Given the description of an element on the screen output the (x, y) to click on. 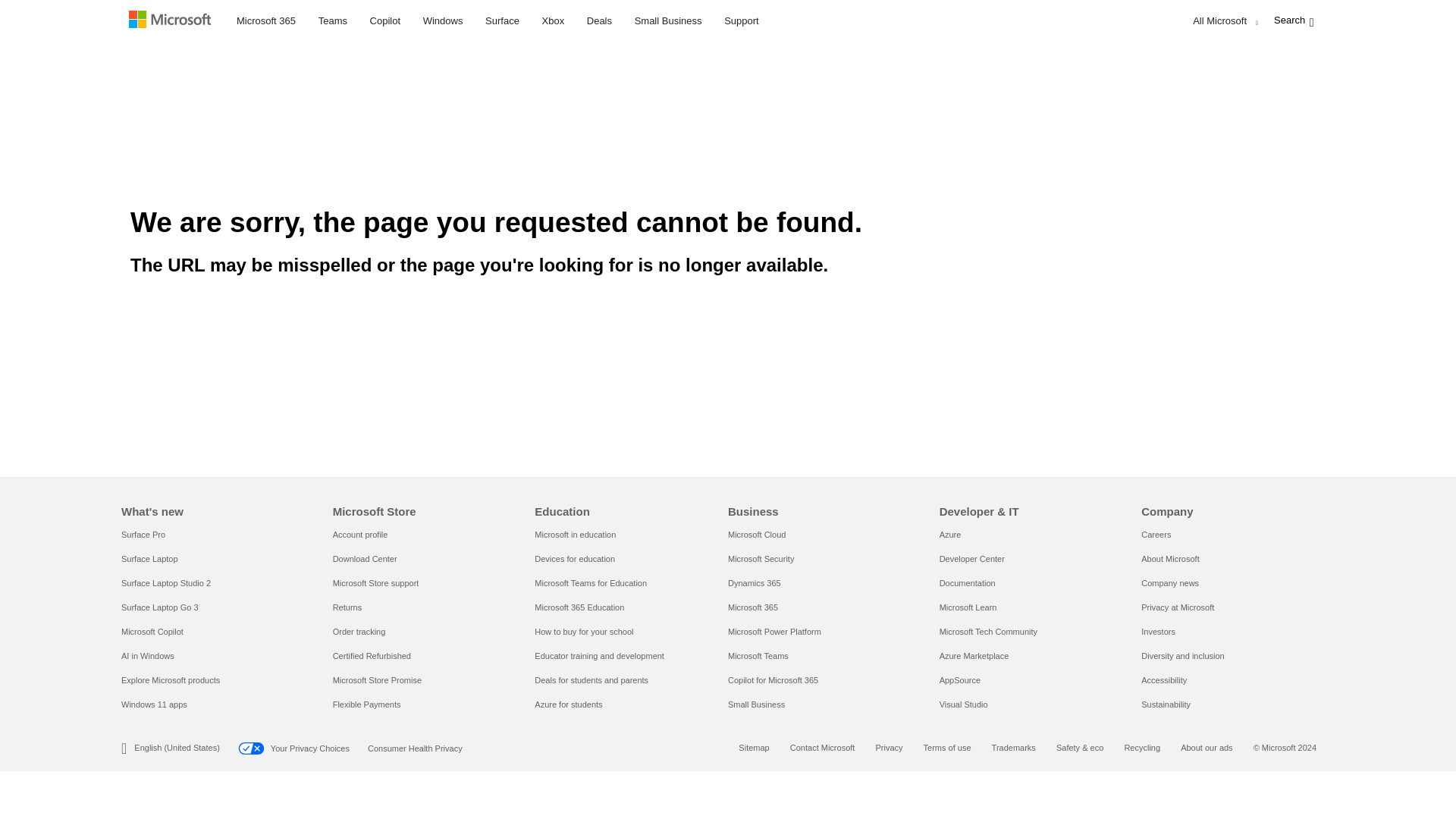
Copilot (384, 18)
Deals (598, 18)
Small Business (668, 18)
Windows (443, 18)
All Microsoft (1222, 20)
Teams (332, 18)
Surface (502, 18)
Microsoft (172, 20)
Support (741, 18)
Microsoft 365 (266, 18)
Xbox (553, 18)
